Given the description of an element on the screen output the (x, y) to click on. 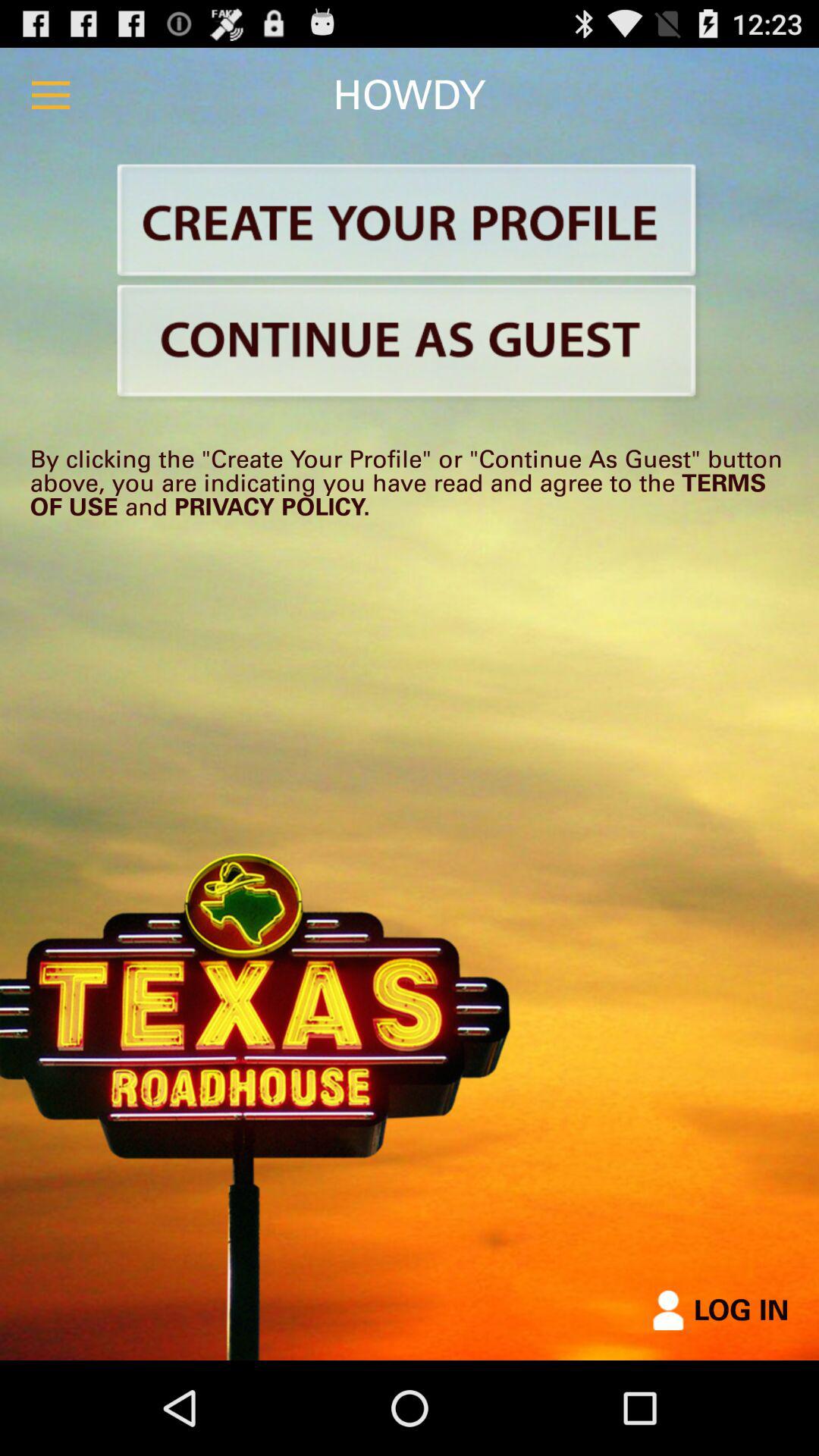
opens a page to create profile (409, 223)
